Given the description of an element on the screen output the (x, y) to click on. 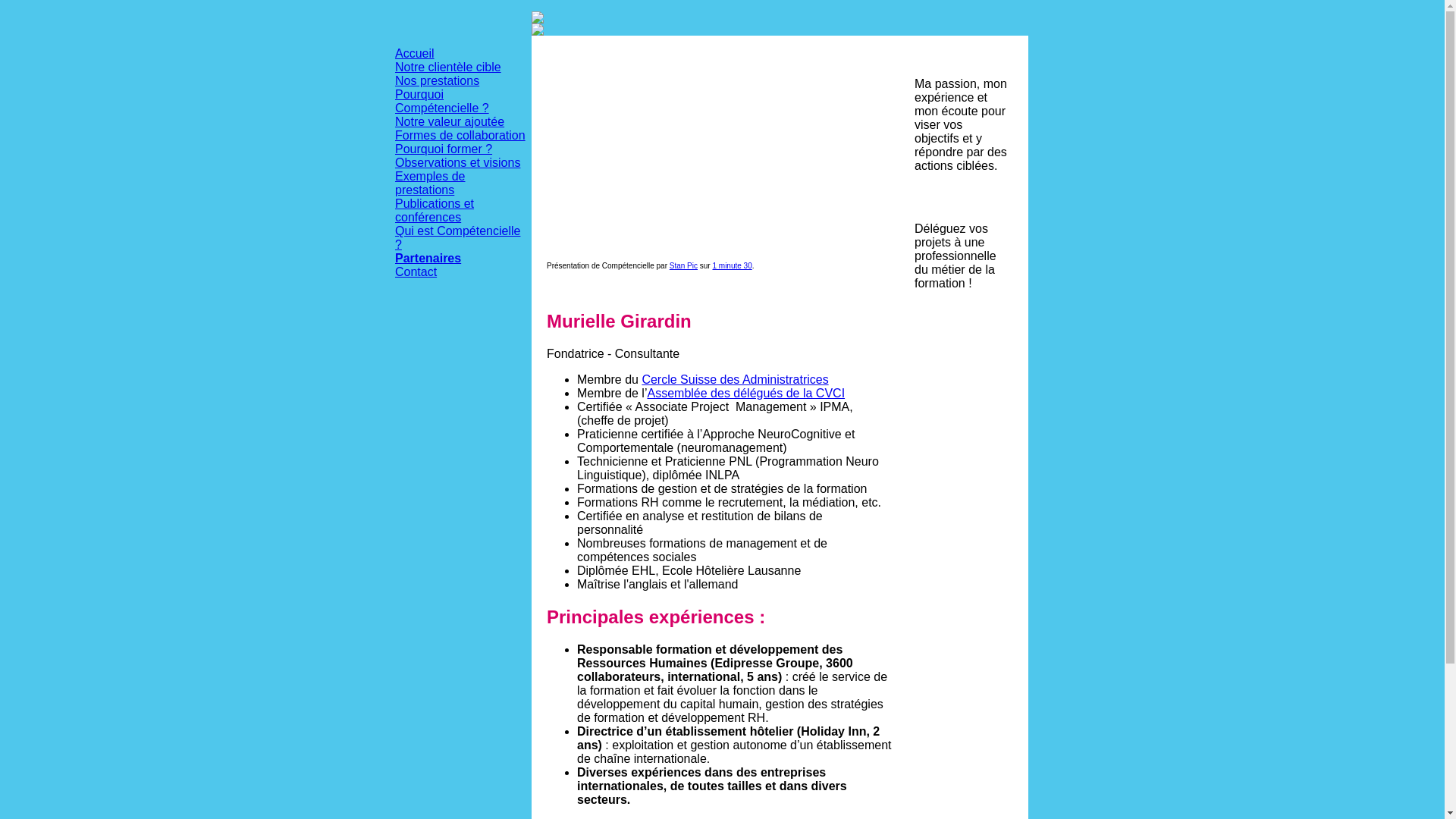
Pourquoi former ? Element type: text (443, 148)
1 minute 30 Element type: text (731, 265)
Formes de collaboration Element type: text (460, 134)
Partenaires Element type: text (428, 257)
Cercle Suisse des Administratrices Element type: text (734, 379)
Contact Element type: text (415, 271)
Exemples de prestations Element type: text (430, 182)
Accueil Element type: text (414, 53)
Stan Pic Element type: text (683, 265)
Observations et visions Element type: text (457, 162)
Nos prestations Element type: text (437, 80)
